Given the description of an element on the screen output the (x, y) to click on. 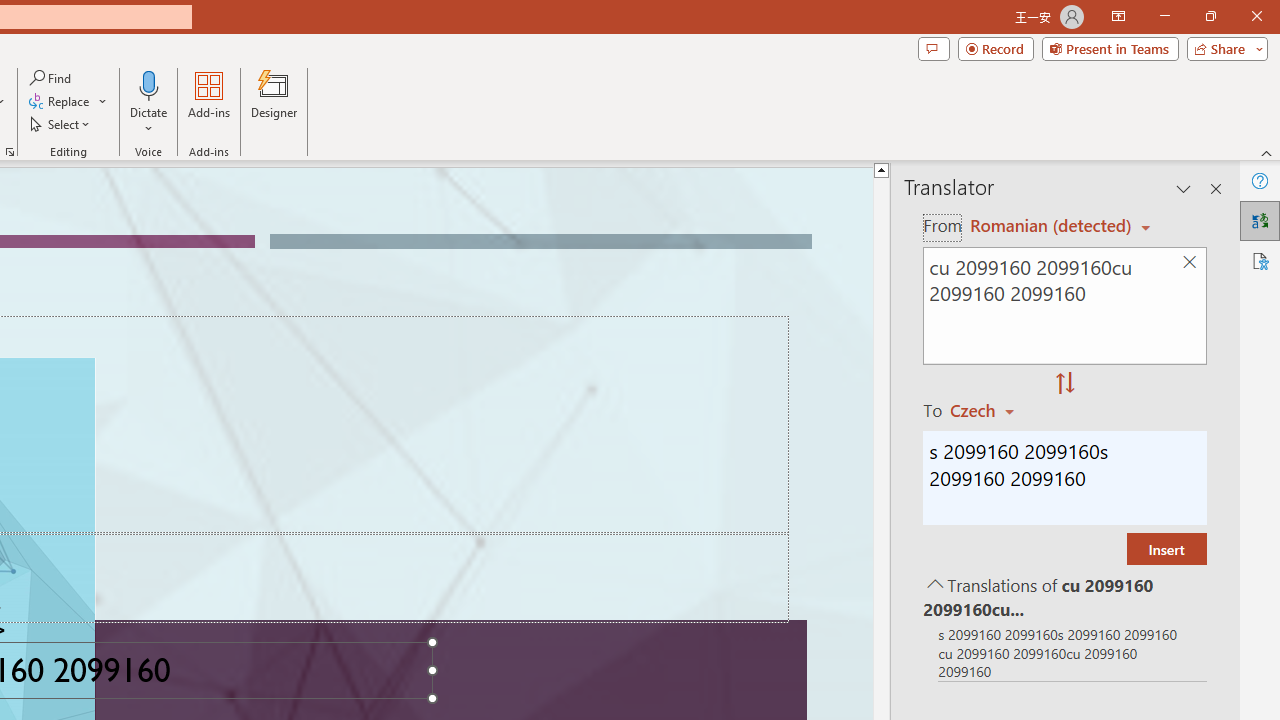
Czech (detected) (1047, 225)
